Given the description of an element on the screen output the (x, y) to click on. 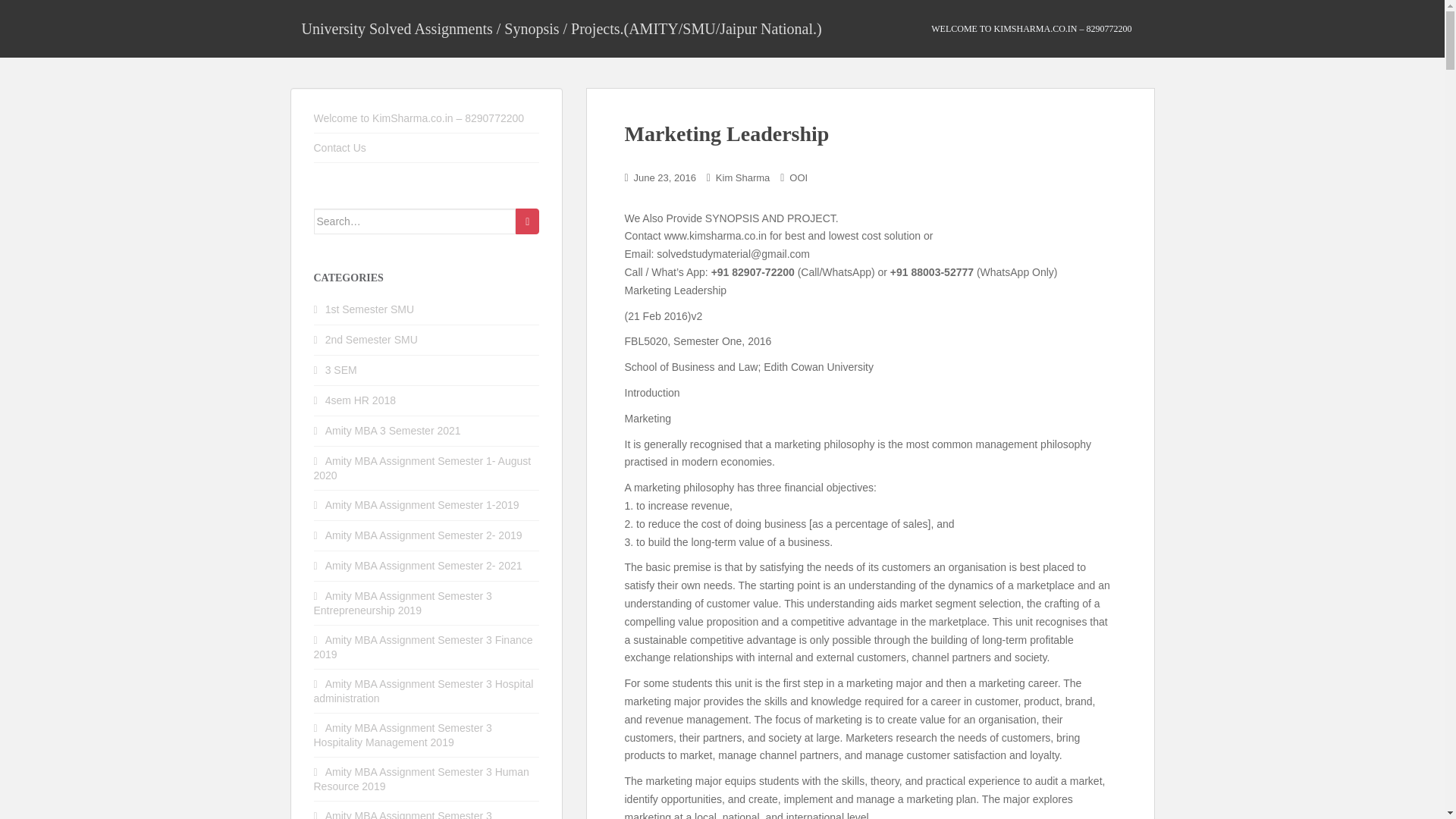
Amity MBA 3 Semester 2021 (392, 430)
Contact Us (340, 147)
Amity MBA Assignment Semester 1- August 2020 (422, 468)
Amity MBA Assignment Semester 3 Hospital administration (424, 691)
Amity MBA Assignment Semester 2- 2019 (423, 535)
Amity MBA Assignment Semester 3 Finance 2019 (423, 646)
Amity MBA Assignment Semester 3 Information Technology 2019 (403, 814)
Amity MBA Assignment Semester 3 Hospitality Management 2019 (403, 734)
Amity MBA Assignment Semester 2- 2021 (423, 565)
Search for: (415, 221)
